Given the description of an element on the screen output the (x, y) to click on. 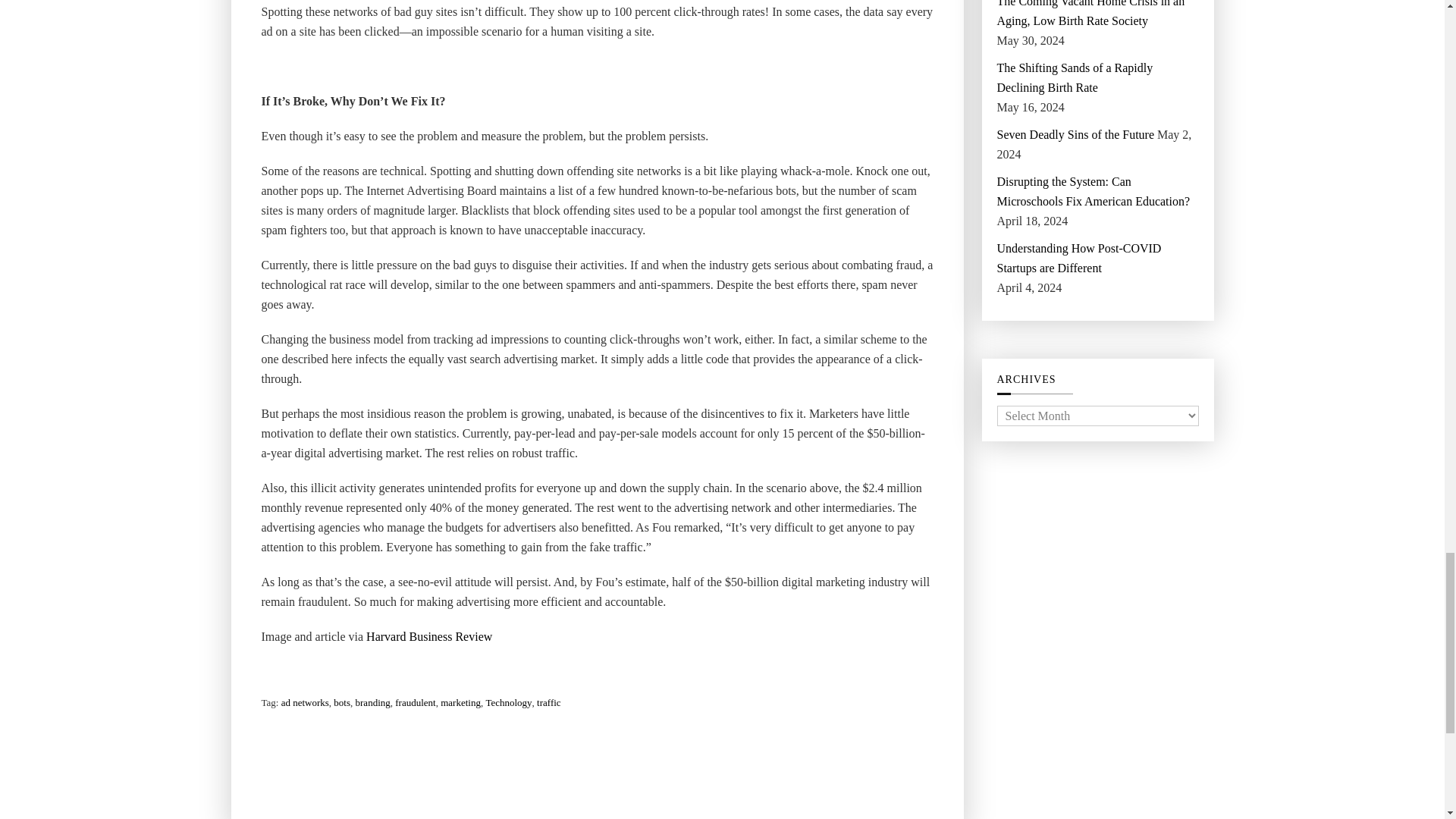
branding (372, 702)
Harvard Business Review (429, 637)
fraudulent (414, 702)
Technology (507, 702)
traffic (548, 702)
ad networks (305, 702)
marketing (460, 702)
